Given the description of an element on the screen output the (x, y) to click on. 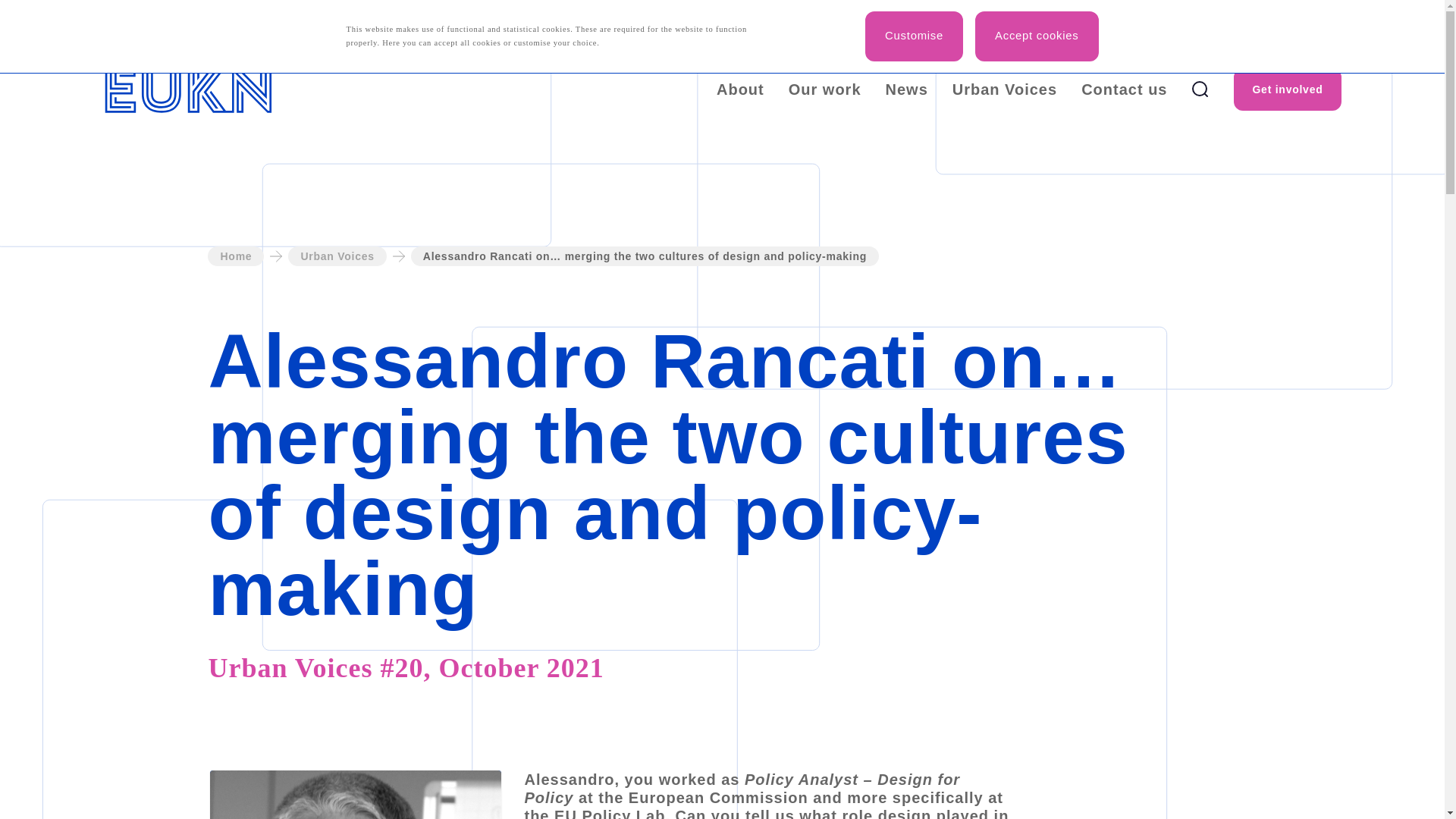
About (740, 88)
News (906, 88)
Urban Voices (1004, 88)
Accept cookies (1036, 36)
Urban Voices (336, 256)
Our work (825, 88)
Customise (913, 36)
Get involved (1286, 88)
Contact us (1124, 88)
Home (235, 256)
